Given the description of an element on the screen output the (x, y) to click on. 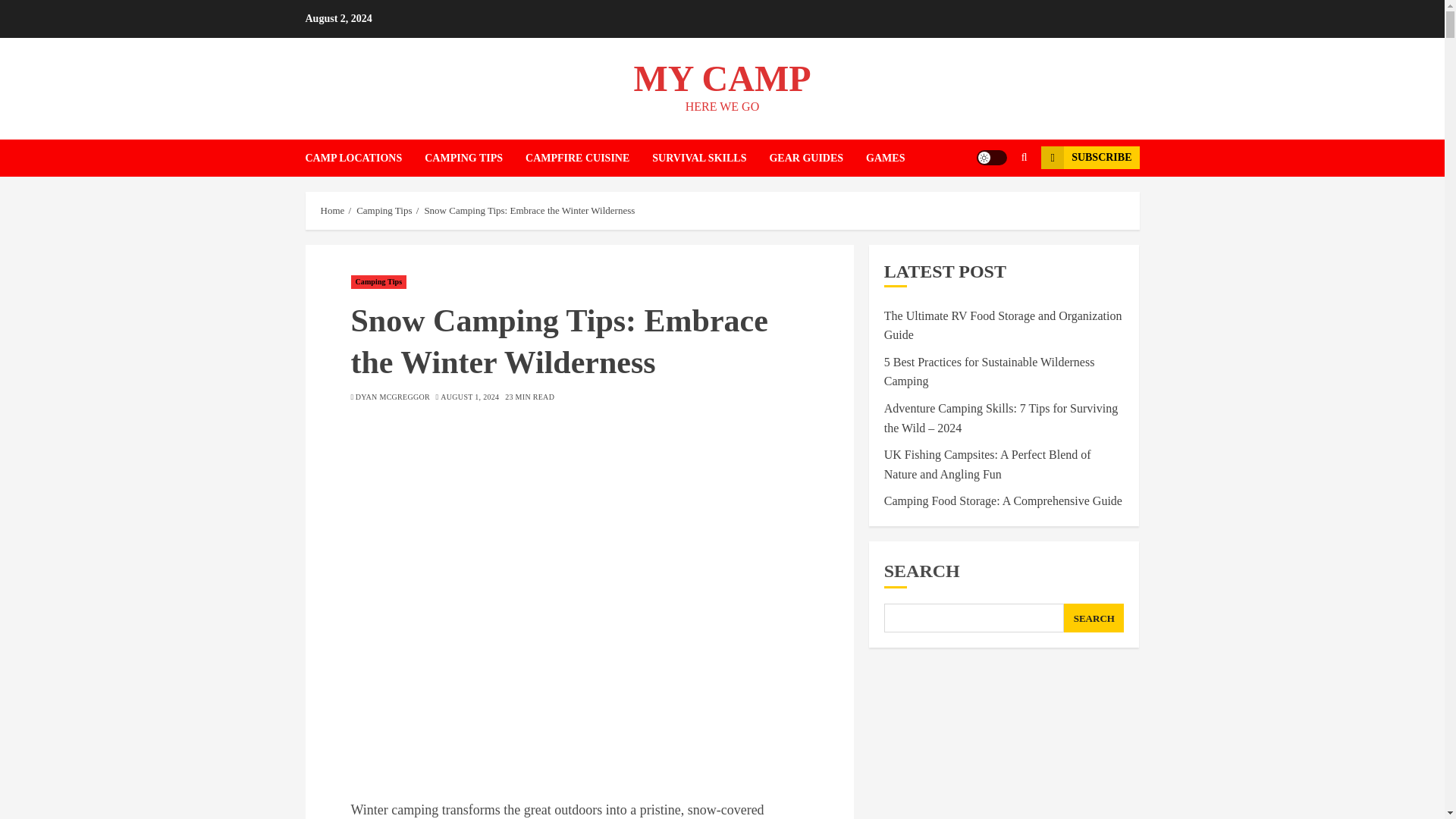
CAMP LOCATIONS (364, 157)
Home (331, 210)
Search (994, 203)
GEAR GUIDES (817, 157)
SUBSCRIBE (1089, 157)
SURVIVAL SKILLS (710, 157)
Camping Tips (378, 282)
Snow Camping Tips: Embrace the Winter Wilderness (528, 210)
Camping Food Storage: A Comprehensive Guide (1002, 500)
MY CAMP (721, 78)
DYAN MCGREGGOR (392, 397)
Camping Tips (384, 210)
5 Best Practices for Sustainable Wilderness Camping (988, 372)
GAMES (885, 157)
